Given the description of an element on the screen output the (x, y) to click on. 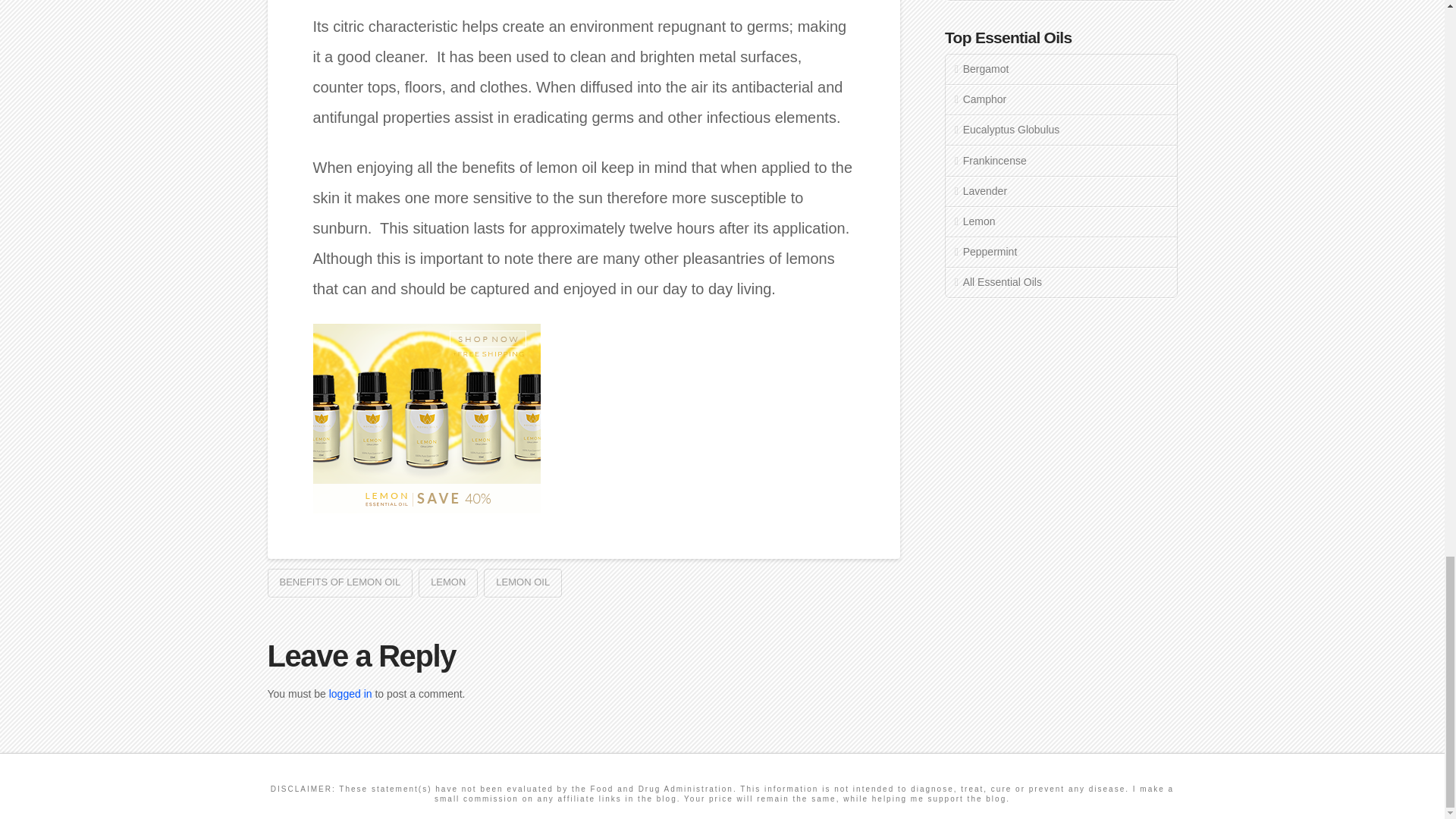
logged in (350, 693)
LEMON (448, 582)
300x250-lemon-04 (426, 418)
LEMON OIL (522, 582)
BENEFITS OF LEMON OIL (339, 582)
